Given the description of an element on the screen output the (x, y) to click on. 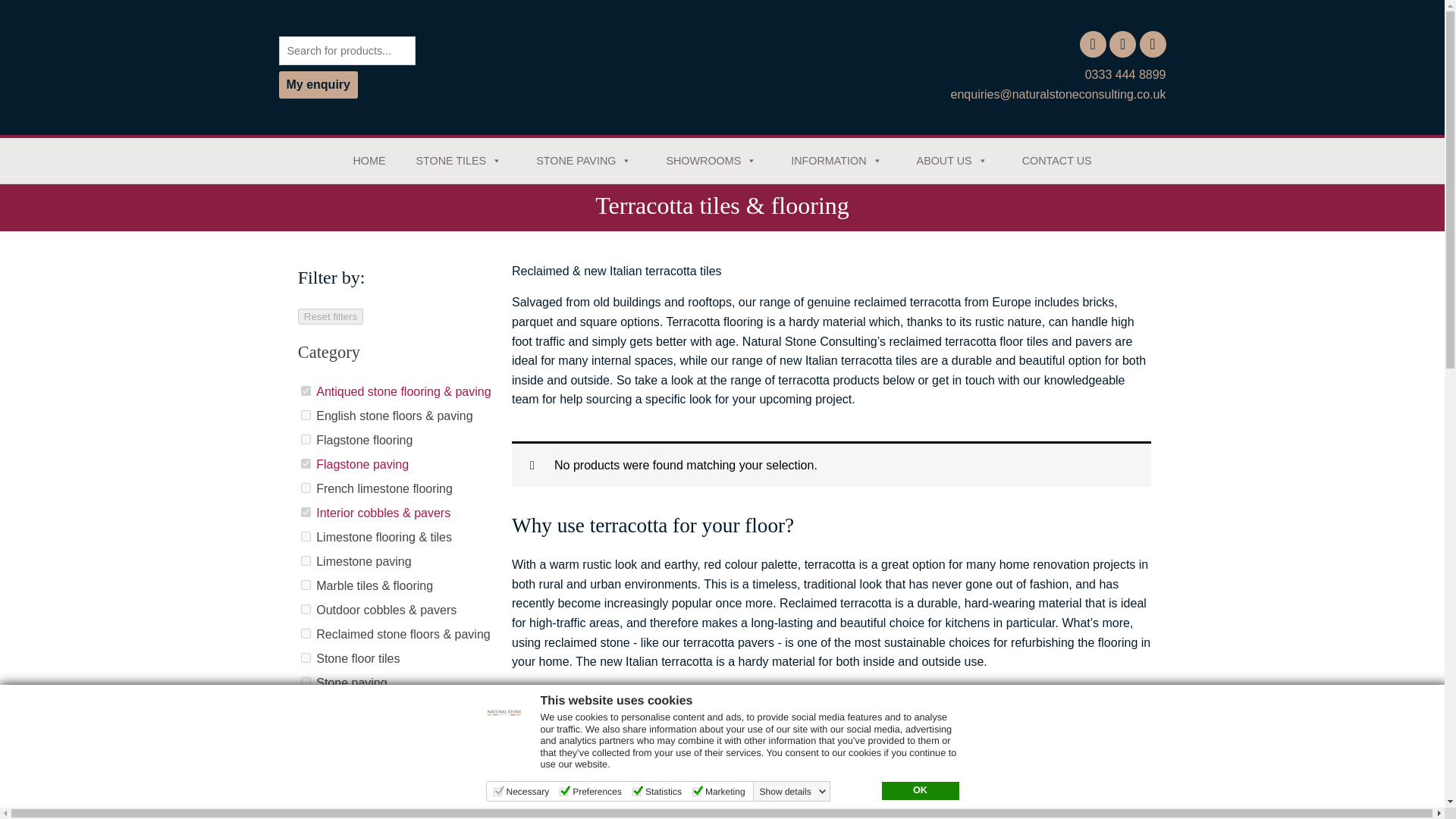
english-stone-floors-paving (306, 415)
wall-tiles (306, 730)
french-limestone (306, 488)
STONE TILES (460, 160)
Show details (793, 791)
stone-paving (306, 682)
HOME (368, 160)
cobbles-and-pavers (306, 609)
stone-flooring-tiles (306, 706)
antiqued-stone (306, 390)
OK (919, 791)
swimming-pool-tiles (306, 755)
marble-tiles-flooring (306, 584)
